Given the description of an element on the screen output the (x, y) to click on. 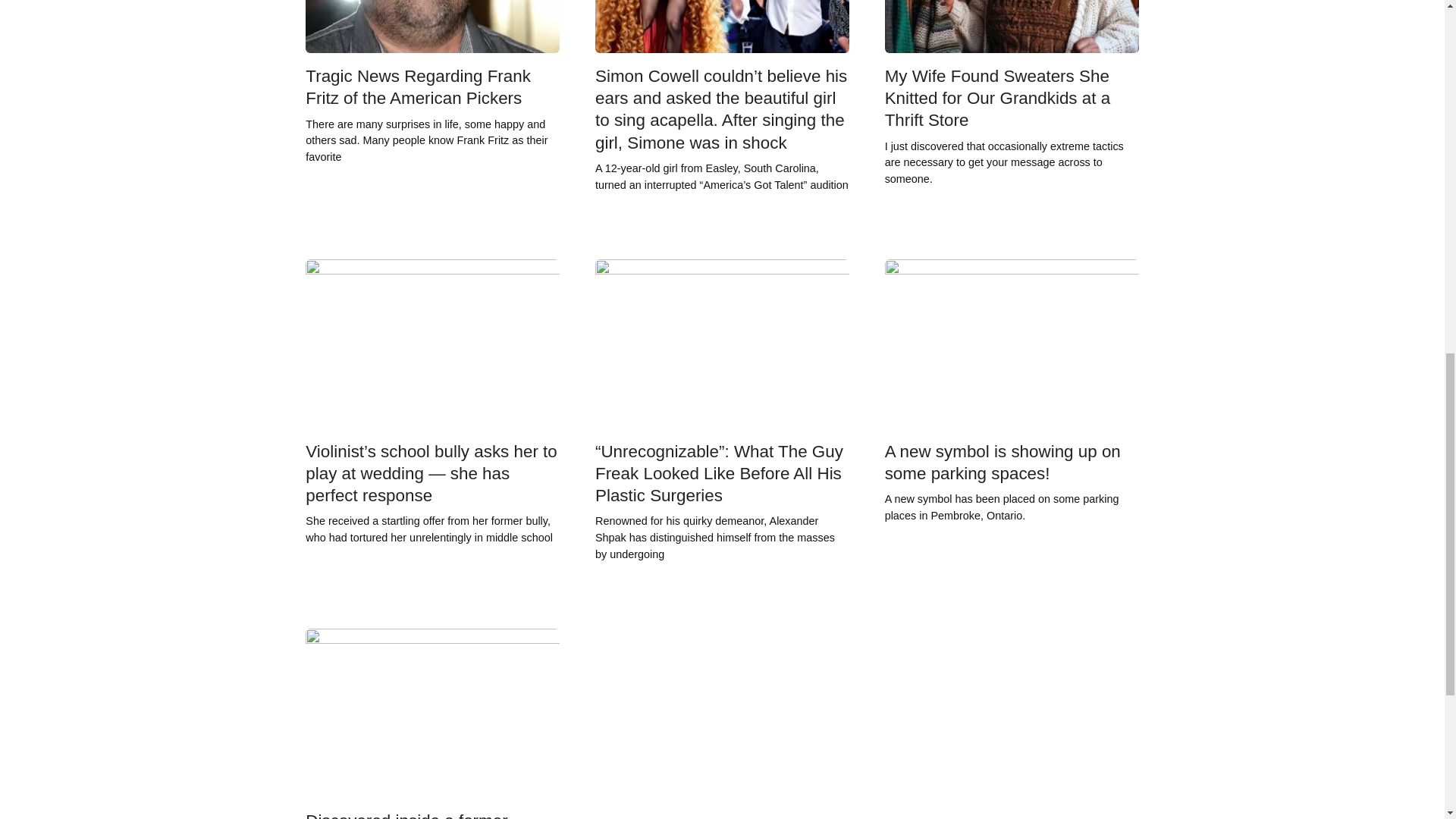
A new symbol is showing up on some parking spaces! (1003, 462)
Tragic News Regarding Frank Fritz of the American Pickers (418, 87)
